Given the description of an element on the screen output the (x, y) to click on. 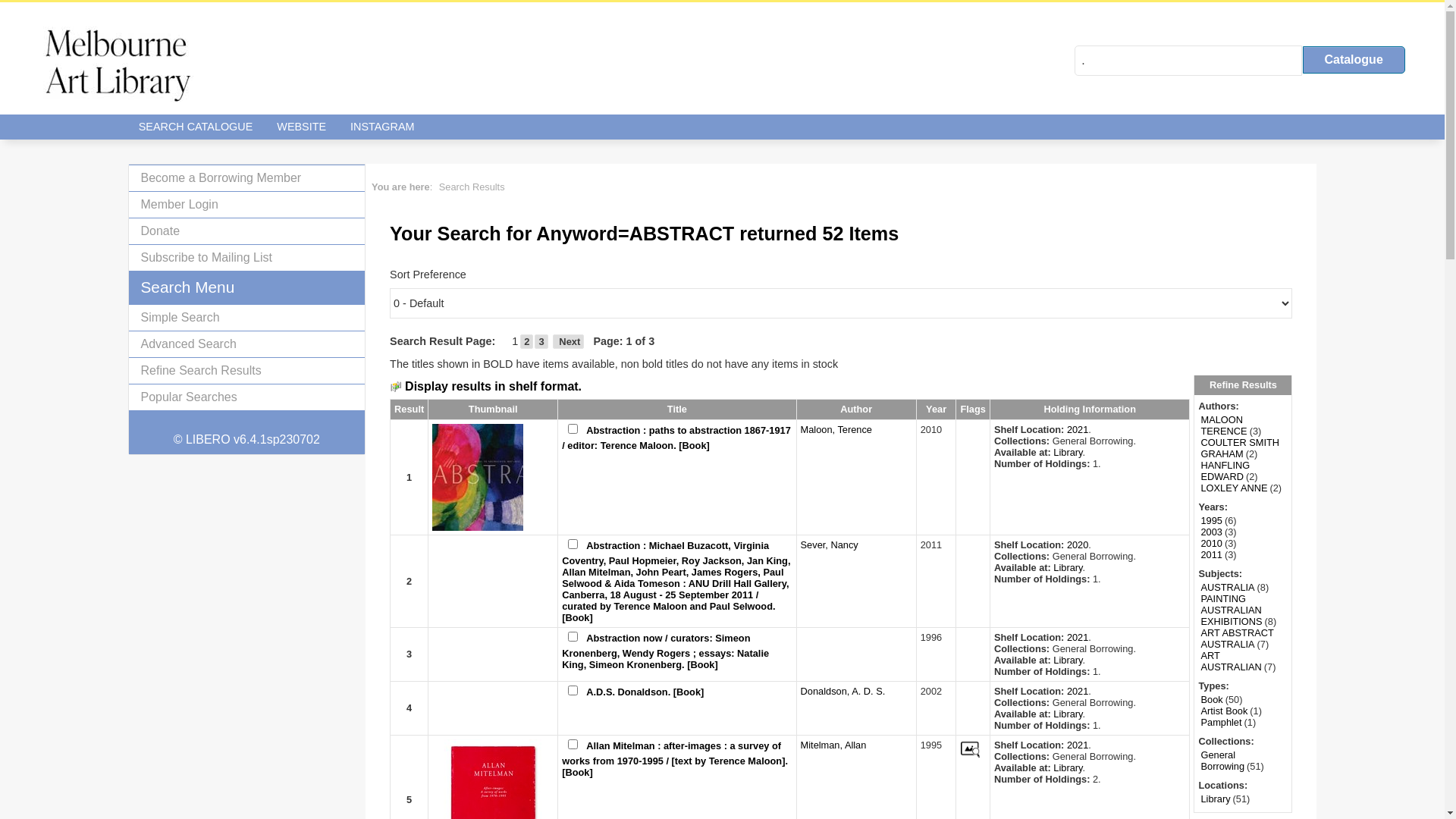
Library Element type: text (1067, 713)
Maloon, Terence Element type: text (836, 429)
2010 Element type: text (1210, 543)
3 Element type: text (540, 341)
PAINTING AUSTRALIAN EXHIBITIONS Element type: text (1230, 610)
2020 Element type: text (1077, 544)
COULTER SMITH GRAHAM Element type: text (1239, 447)
2021 Element type: text (1077, 637)
1995 Element type: text (1210, 520)
HANFLING EDWARD Element type: text (1224, 470)
2021 Element type: text (1077, 744)
Sever, Nancy Element type: text (829, 544)
Member Login Element type: text (246, 204)
ART ABSTRACT AUSTRALIA Element type: text (1236, 638)
LOXLEY ANNE Element type: text (1233, 487)
Item Thumbnail Element type: hover (492, 798)
Become a Borrowing Member Element type: text (246, 177)
Mitelman, Allan Element type: text (833, 744)
Pamphlet Element type: text (1220, 722)
Library Element type: text (1067, 567)
A.D.S. Donaldson. [Book] Element type: text (644, 691)
ART AUSTRALIAN Element type: text (1230, 660)
Library Element type: text (1067, 767)
MALOON TERENCE Element type: text (1223, 425)
2011 Element type: text (1210, 554)
INSTAGRAM Element type: text (382, 126)
Melbourne Art Library Element type: hover (118, 62)
2021 Element type: text (1077, 429)
WEBSITE Element type: text (301, 126)
2003 Element type: text (1210, 531)
Donate Element type: text (246, 230)
Refine Search Results Element type: text (246, 370)
A.D.S. Donaldson. Element type: hover (432, 691)
Popular Searches Element type: text (246, 396)
Library Element type: text (1067, 659)
Simple Search Element type: text (246, 317)
Donaldson, A. D. S. Element type: text (842, 690)
SEARCH CATALOGUE Element type: text (195, 126)
Advanced Search Element type: text (246, 343)
AUSTRALIA Element type: text (1227, 587)
2 Element type: text (526, 341)
Library Element type: text (1067, 452)
Subscribe to Mailing List Element type: text (246, 257)
Display results in shelf format. Element type: text (486, 386)
Book Element type: text (1211, 699)
Display Images for Catalogue Record 1210 Element type: hover (969, 749)
General Borrowing Element type: text (1222, 760)
Library Element type: text (1215, 798)
2021 Element type: text (1077, 690)
Catalogue Element type: text (1353, 59)
Artist Book Element type: text (1223, 710)
Next Element type: text (568, 341)
